Given the description of an element on the screen output the (x, y) to click on. 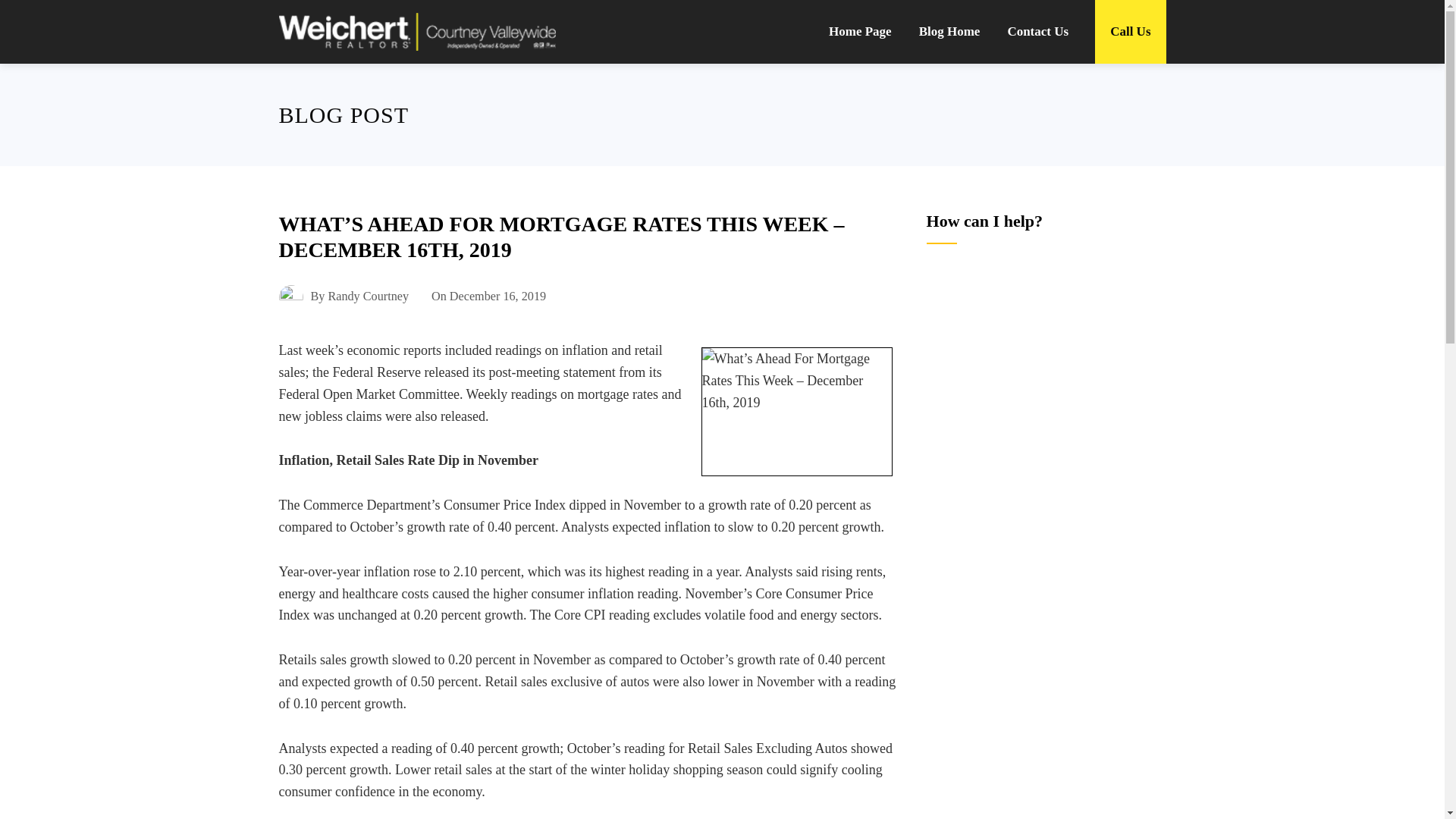
Blog Home (949, 31)
Call Us (1130, 31)
Home Page (859, 31)
Contact Us (1037, 31)
